Given the description of an element on the screen output the (x, y) to click on. 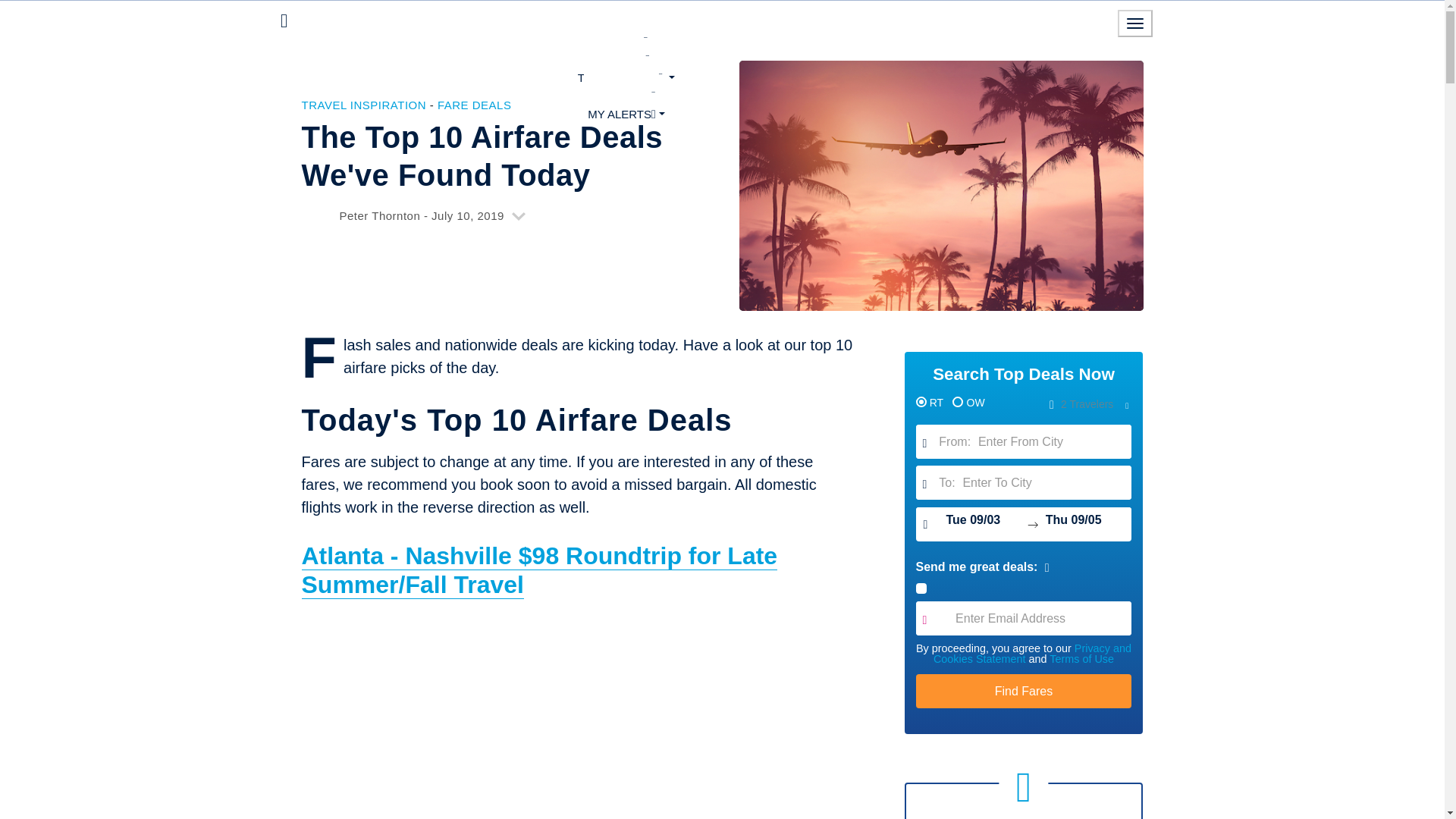
Toggle navigation (1135, 22)
FLIGHTS (625, 40)
TRAVEL BLOG (626, 77)
AIRLINES (625, 58)
